Given the description of an element on the screen output the (x, y) to click on. 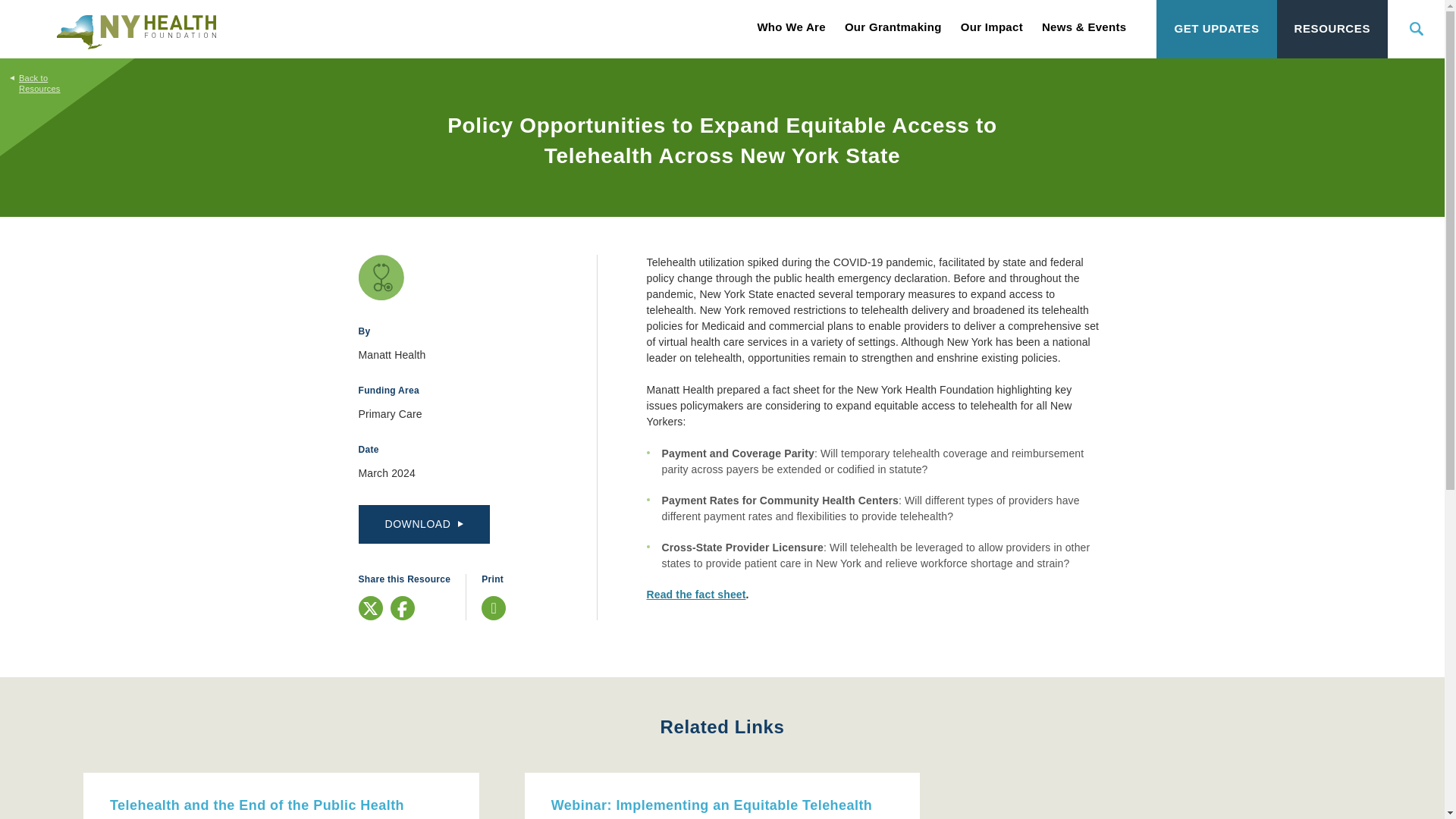
DOWNLOAD (423, 524)
GET UPDATES (1216, 29)
Twitter (370, 608)
FB (402, 609)
RESOURCES (1331, 29)
Read the fact sheet (695, 594)
Back to Resources (28, 75)
Tweet about this on Twitter (369, 607)
Share to Facebook (401, 607)
